Given the description of an element on the screen output the (x, y) to click on. 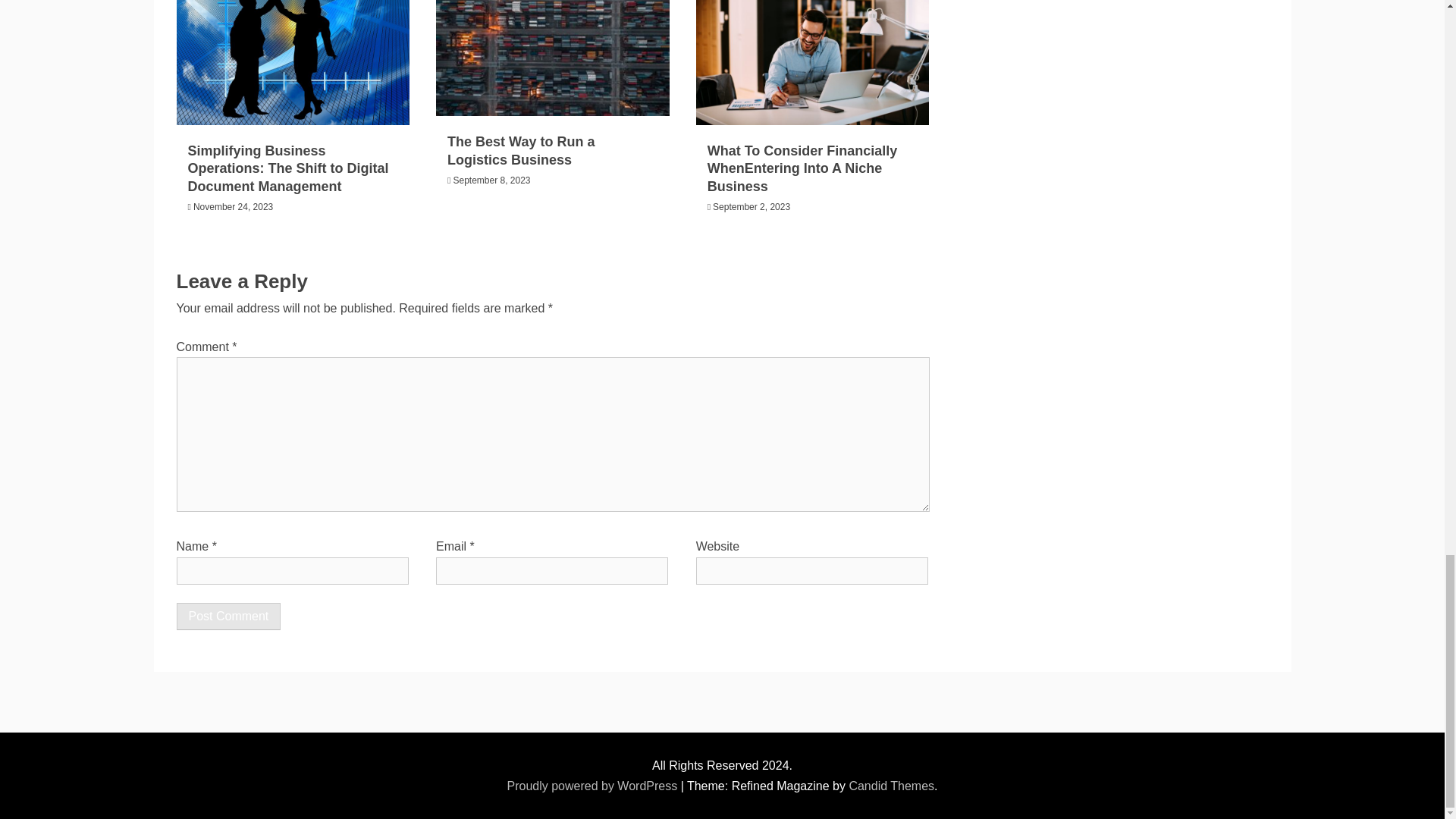
Post Comment (228, 615)
